Given the description of an element on the screen output the (x, y) to click on. 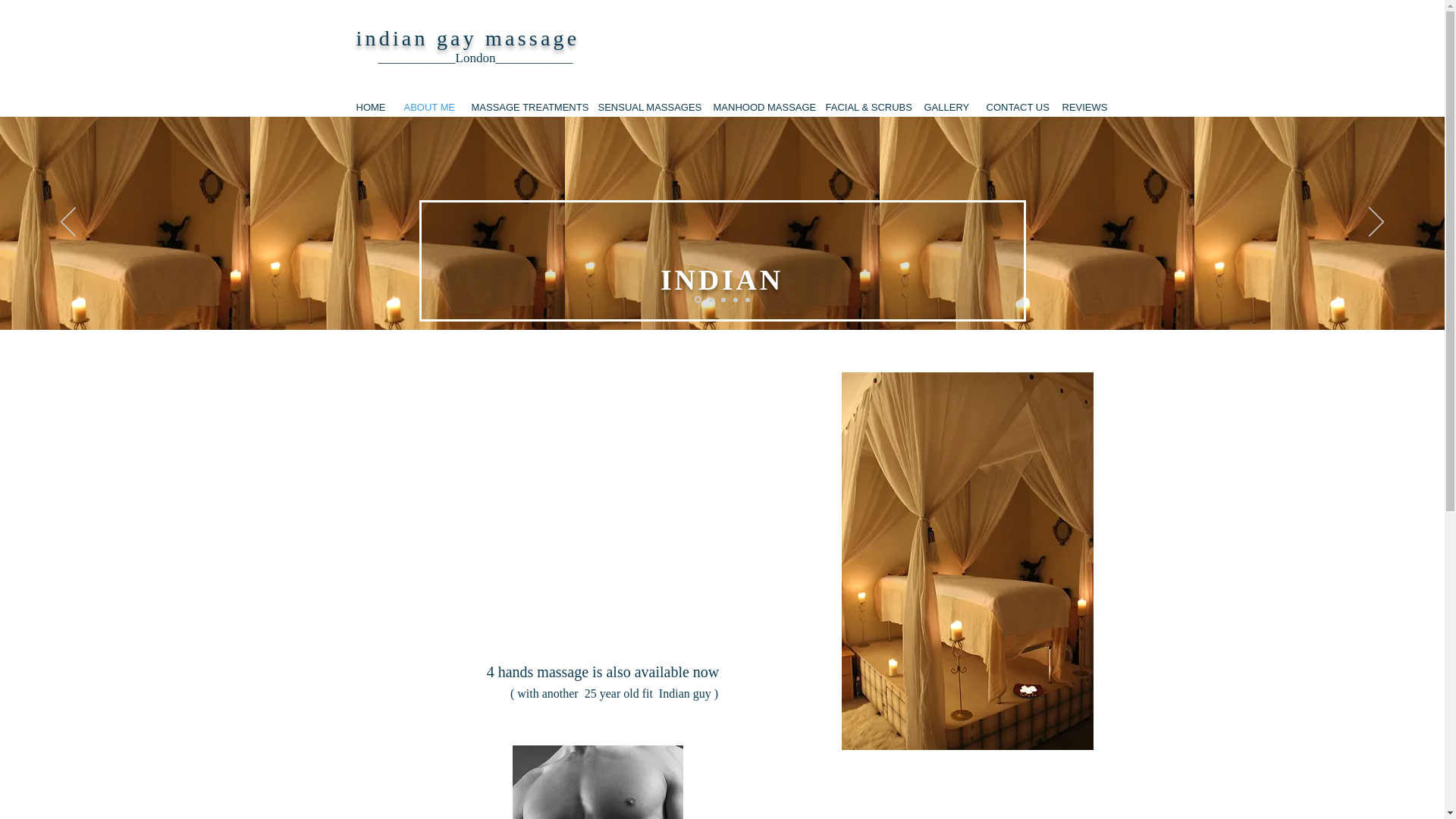
indian gay massage (467, 37)
CONTACT US (1013, 107)
HOME (367, 107)
GALLERY (943, 107)
REVIEWS (1081, 107)
MANHOOD MASSAGE (757, 107)
SENSUAL MASSAGES (643, 107)
ABOUT ME (426, 107)
MASSAGE TREATMENTS (523, 107)
